Given the description of an element on the screen output the (x, y) to click on. 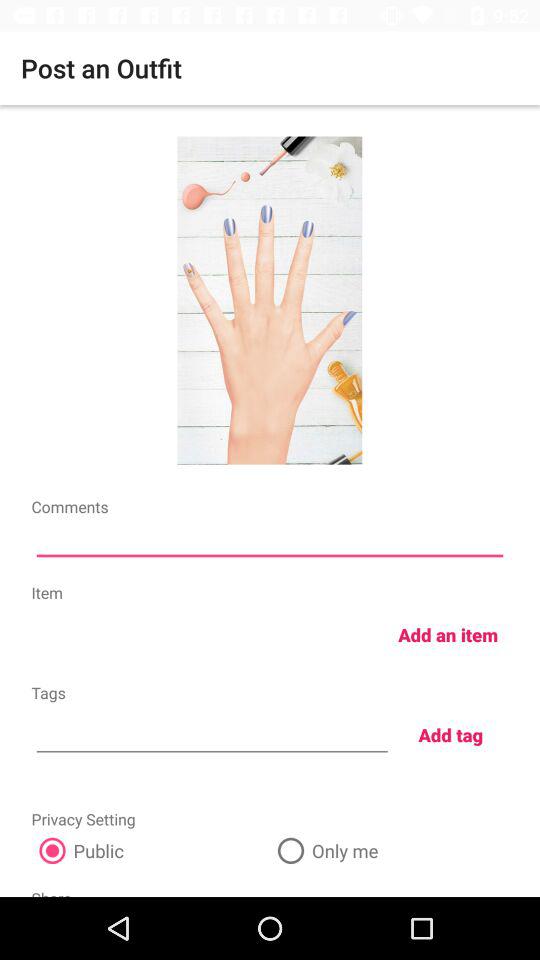
flip until public item (150, 850)
